Given the description of an element on the screen output the (x, y) to click on. 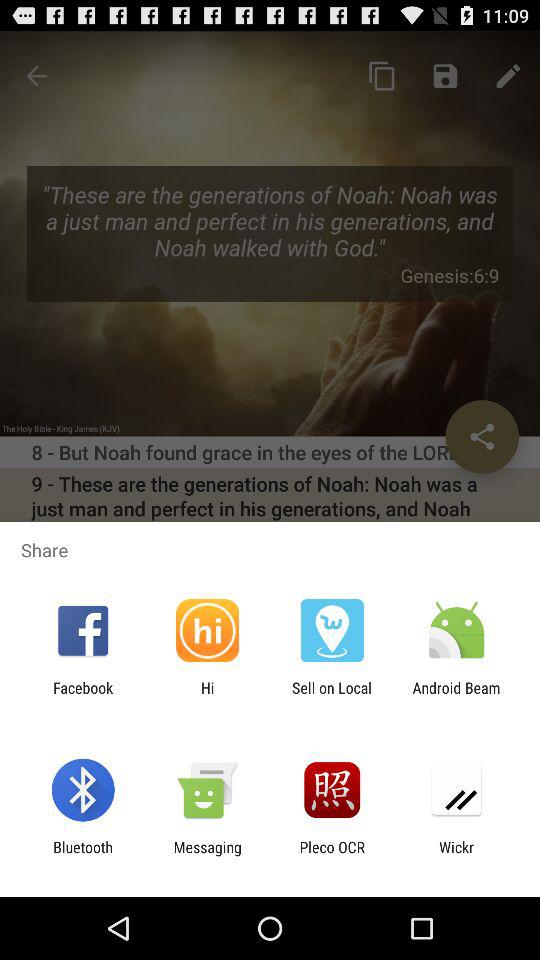
open the icon next to the sell on local item (456, 696)
